Given the description of an element on the screen output the (x, y) to click on. 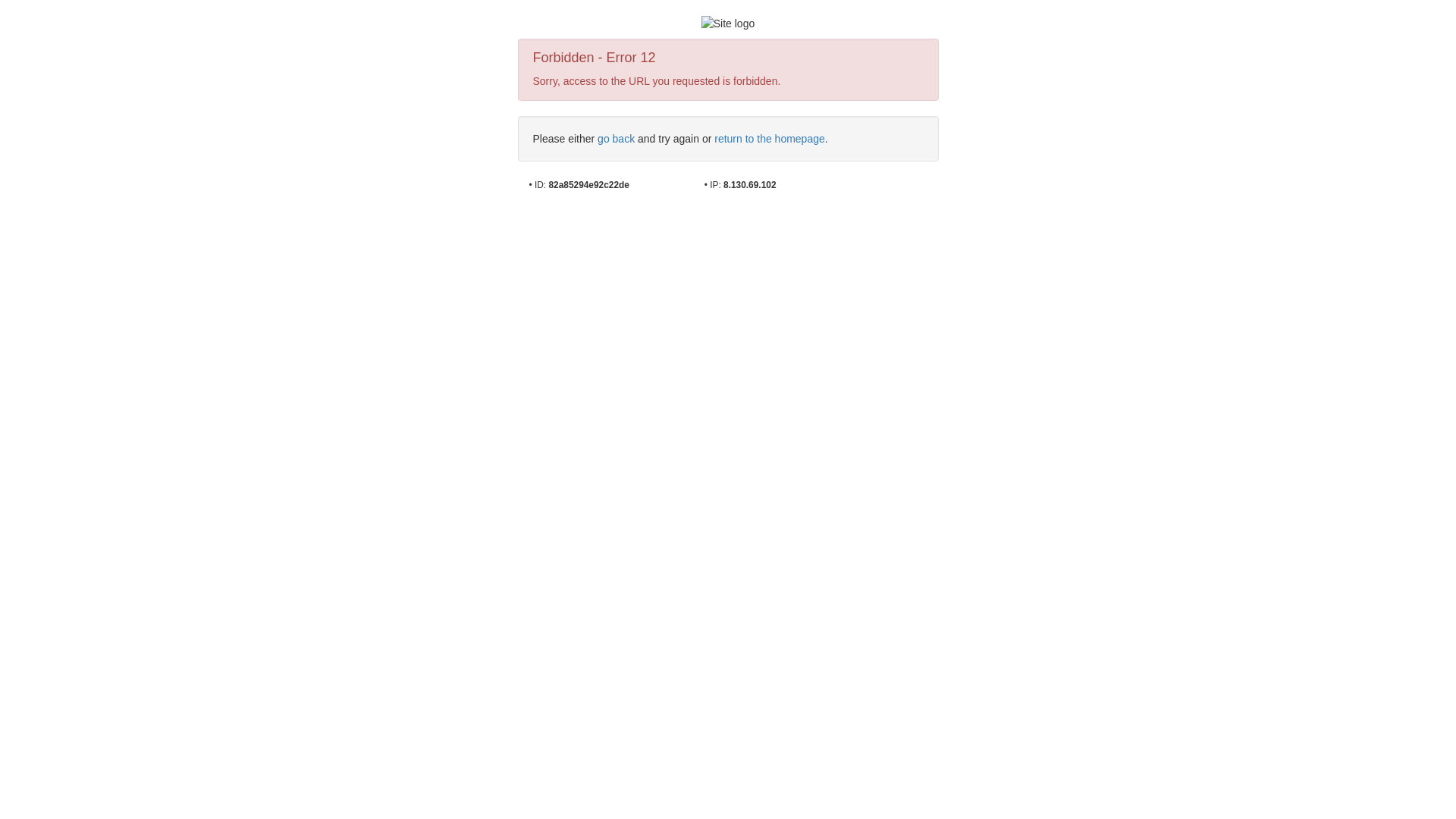
return to the homepage Element type: text (769, 138)
go back Element type: text (615, 138)
